Given the description of an element on the screen output the (x, y) to click on. 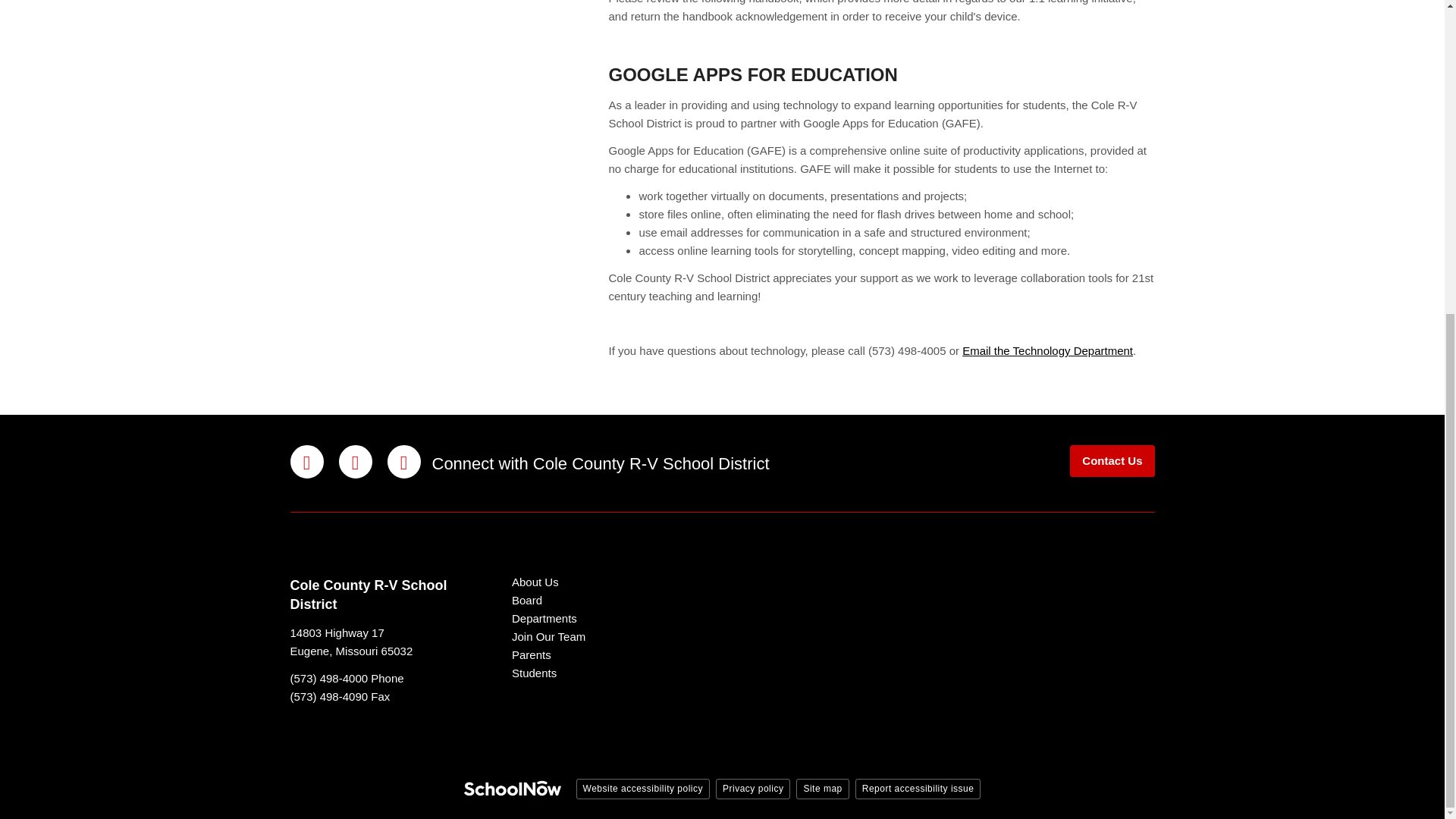
SchoolNow website link (512, 789)
